Given the description of an element on the screen output the (x, y) to click on. 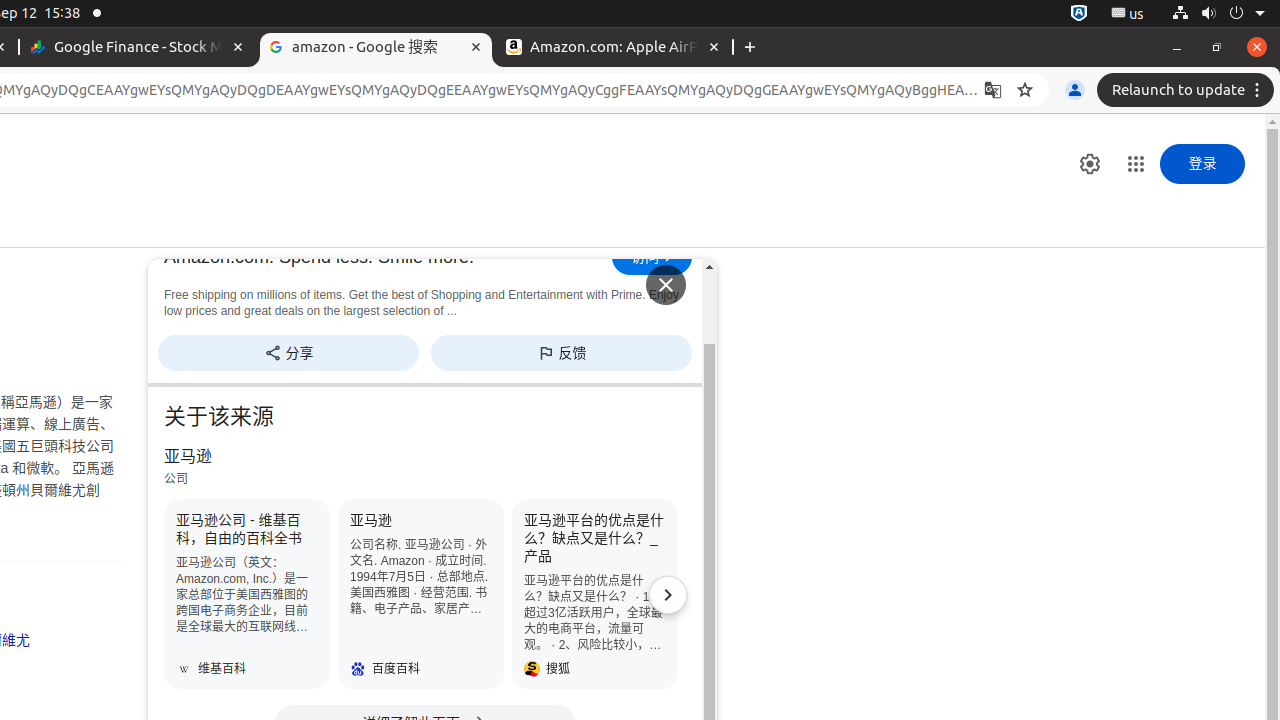
关闭 Element type: push-button (666, 285)
System Element type: menu (1218, 13)
:1.72/StatusNotifierItem Element type: menu (1079, 13)
亚马逊 Element type: link (421, 593)
You Element type: push-button (1075, 90)
